Given the description of an element on the screen output the (x, y) to click on. 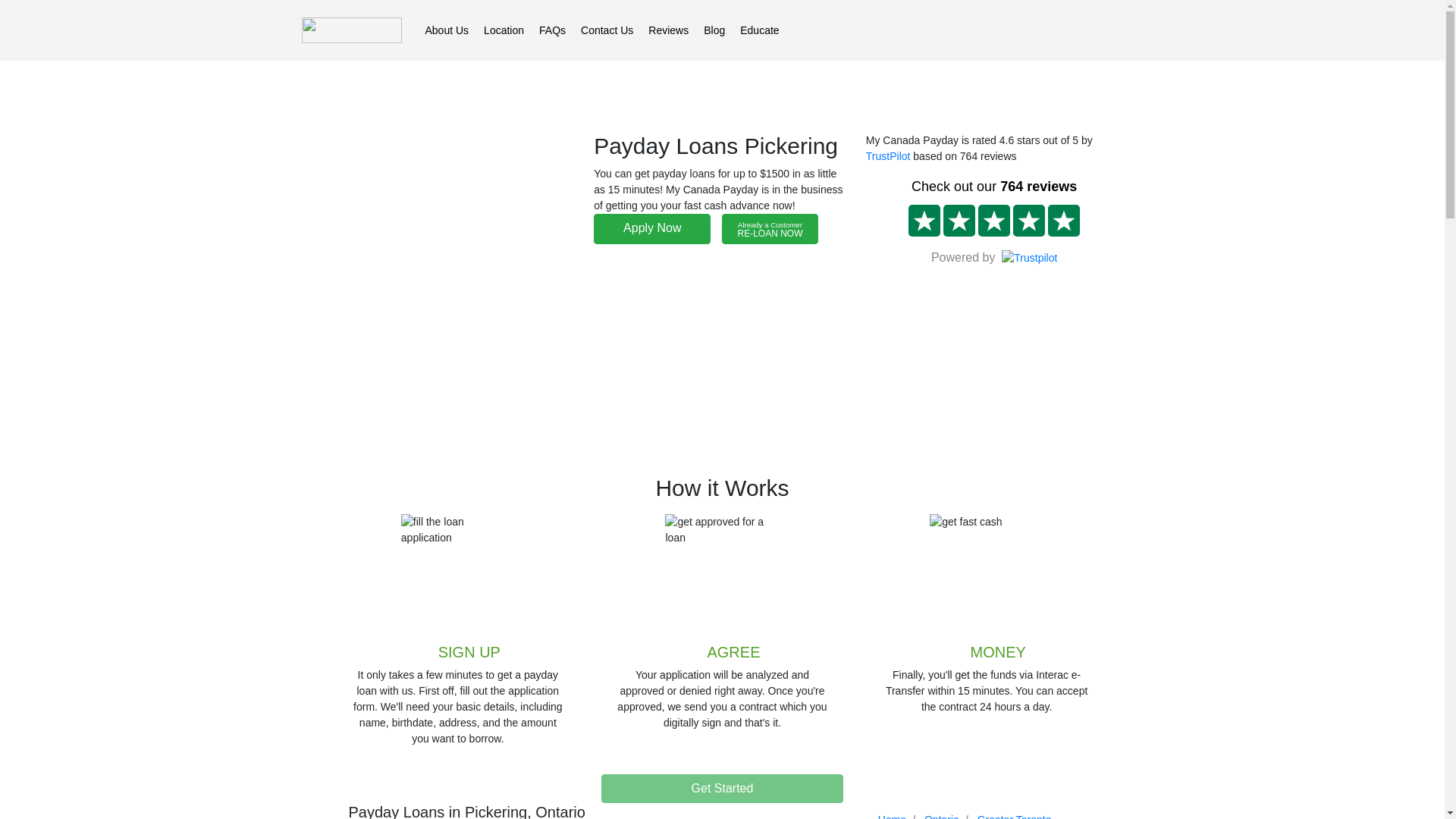
Ontario (941, 816)
Apply Now (652, 228)
Contact Us (606, 30)
Home (891, 816)
Check out our 764 reviews (994, 186)
TrustPilot (888, 155)
Greater Toronto (769, 228)
Get Started (1013, 816)
Trustpilot (722, 788)
